Given the description of an element on the screen output the (x, y) to click on. 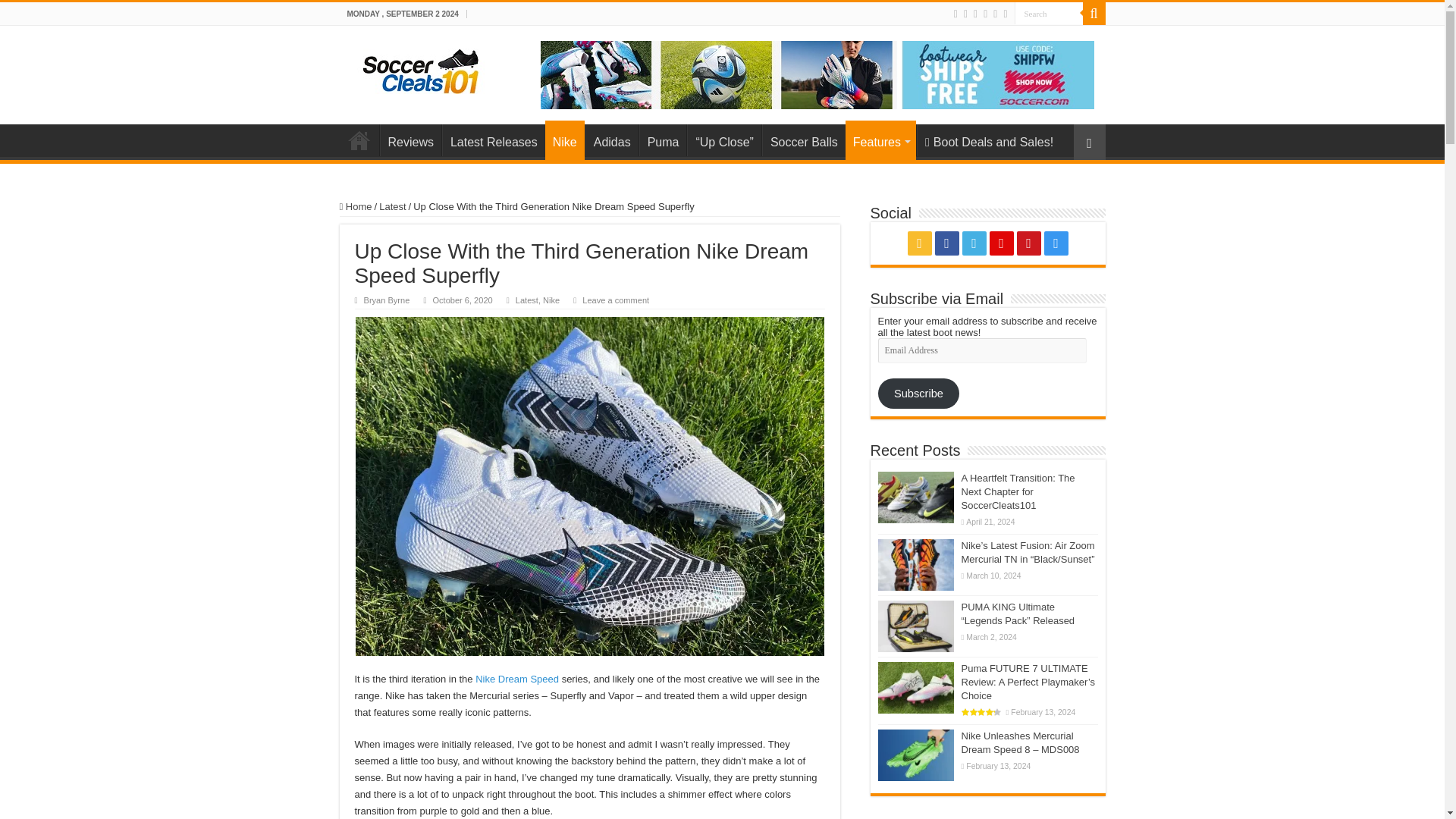
Search (1048, 13)
Nike (564, 139)
Search (1094, 13)
Puma (663, 140)
Home (358, 140)
Search (1048, 13)
Latest Releases (493, 140)
Search (1048, 13)
Adidas (612, 140)
Reviews (409, 140)
